Given the description of an element on the screen output the (x, y) to click on. 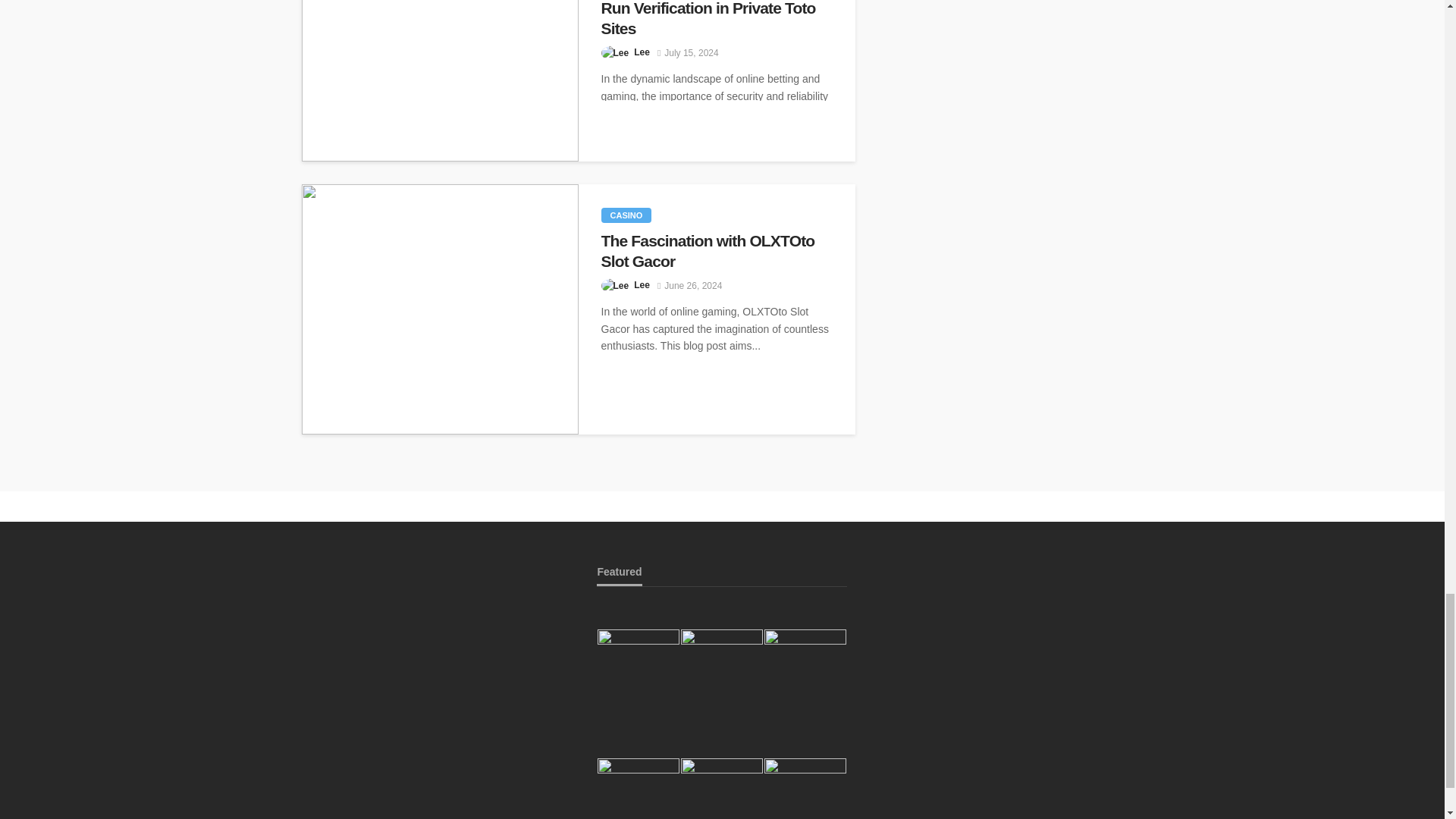
The Fascination with OLXTOto Slot Gacor (439, 309)
